Given the description of an element on the screen output the (x, y) to click on. 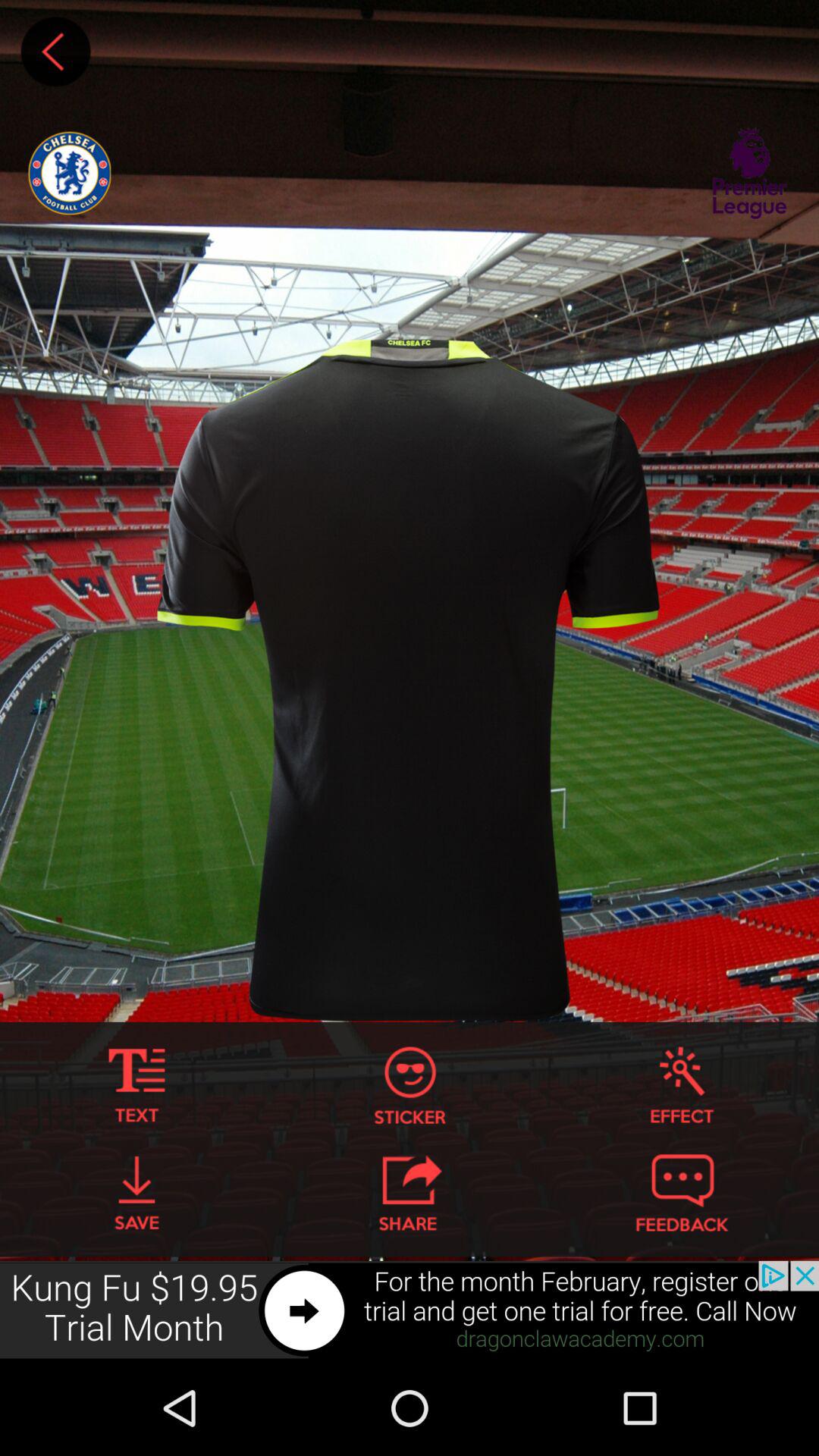
go to download (136, 1193)
